Given the description of an element on the screen output the (x, y) to click on. 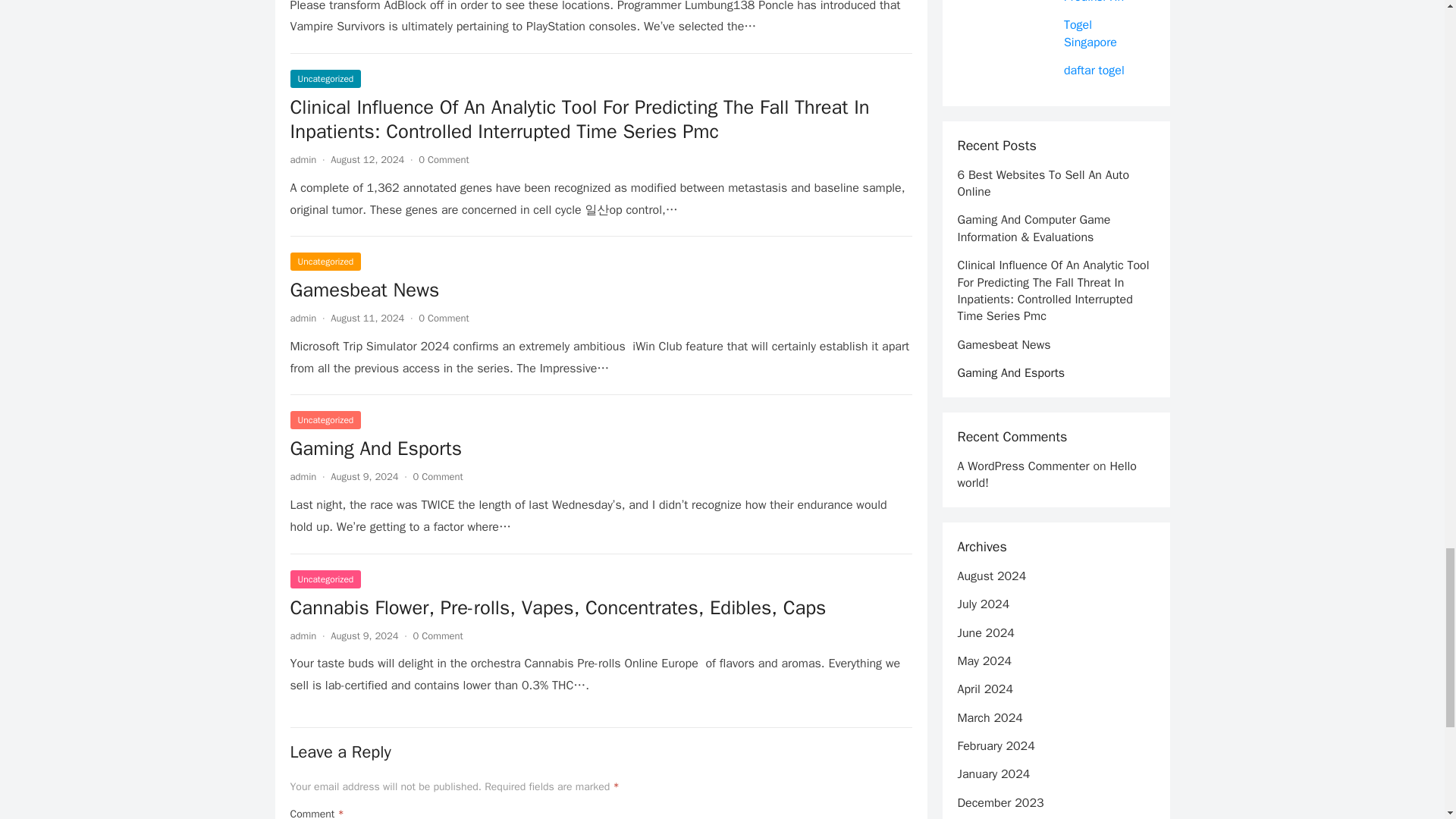
Posts by admin (302, 318)
Posts by admin (302, 476)
Uncategorized (325, 78)
Posts by admin (302, 635)
Posts by admin (302, 159)
